Given the description of an element on the screen output the (x, y) to click on. 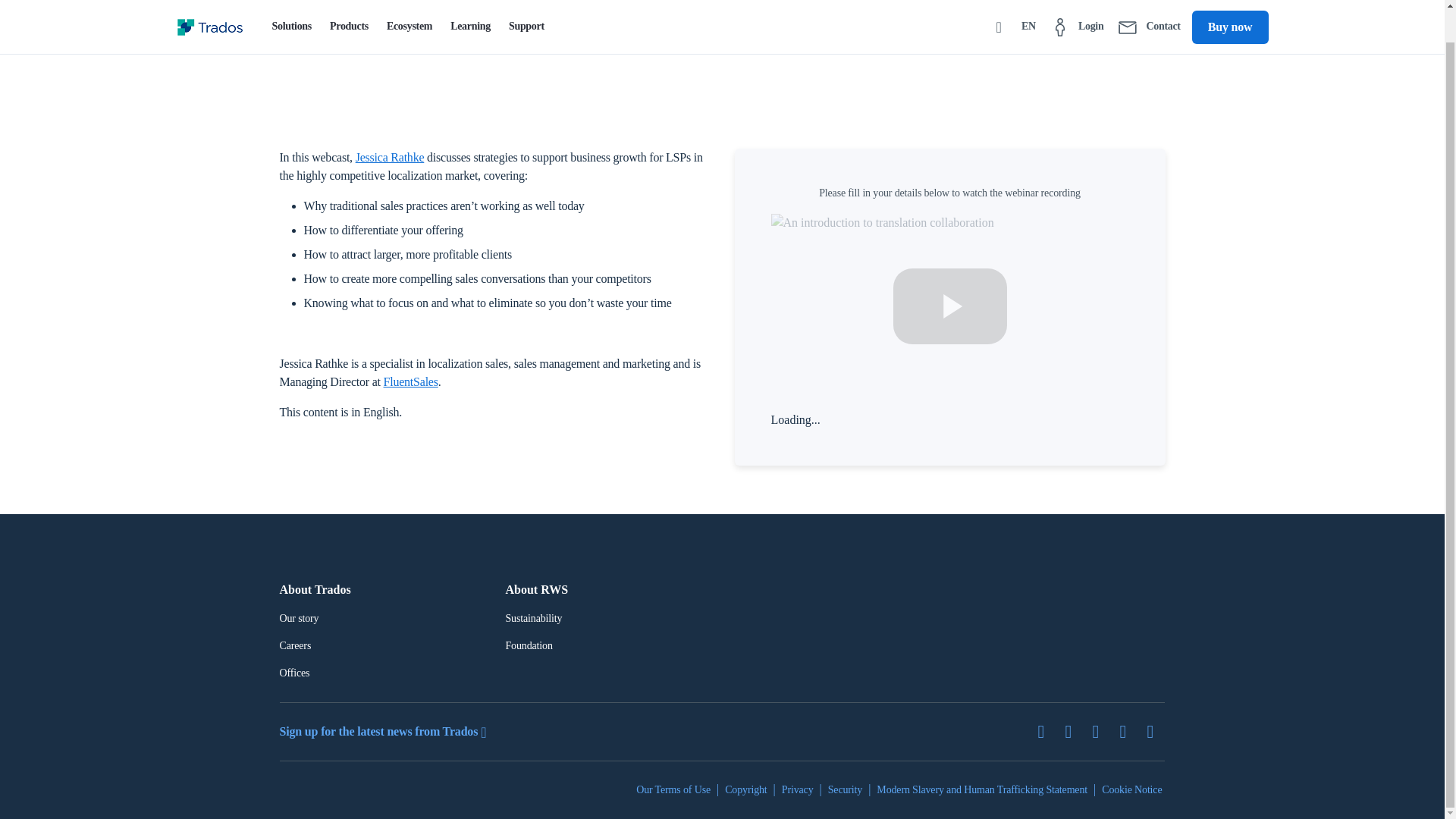
Instagram (1155, 731)
Products (348, 6)
LinkedIn (1073, 731)
Ecosystem (409, 6)
Twitter (1045, 731)
Solutions (291, 6)
FluentSales (411, 381)
YouTube (1128, 731)
Jessica Rathke (390, 156)
Facebook (1100, 731)
Learning (470, 6)
